Given the description of an element on the screen output the (x, y) to click on. 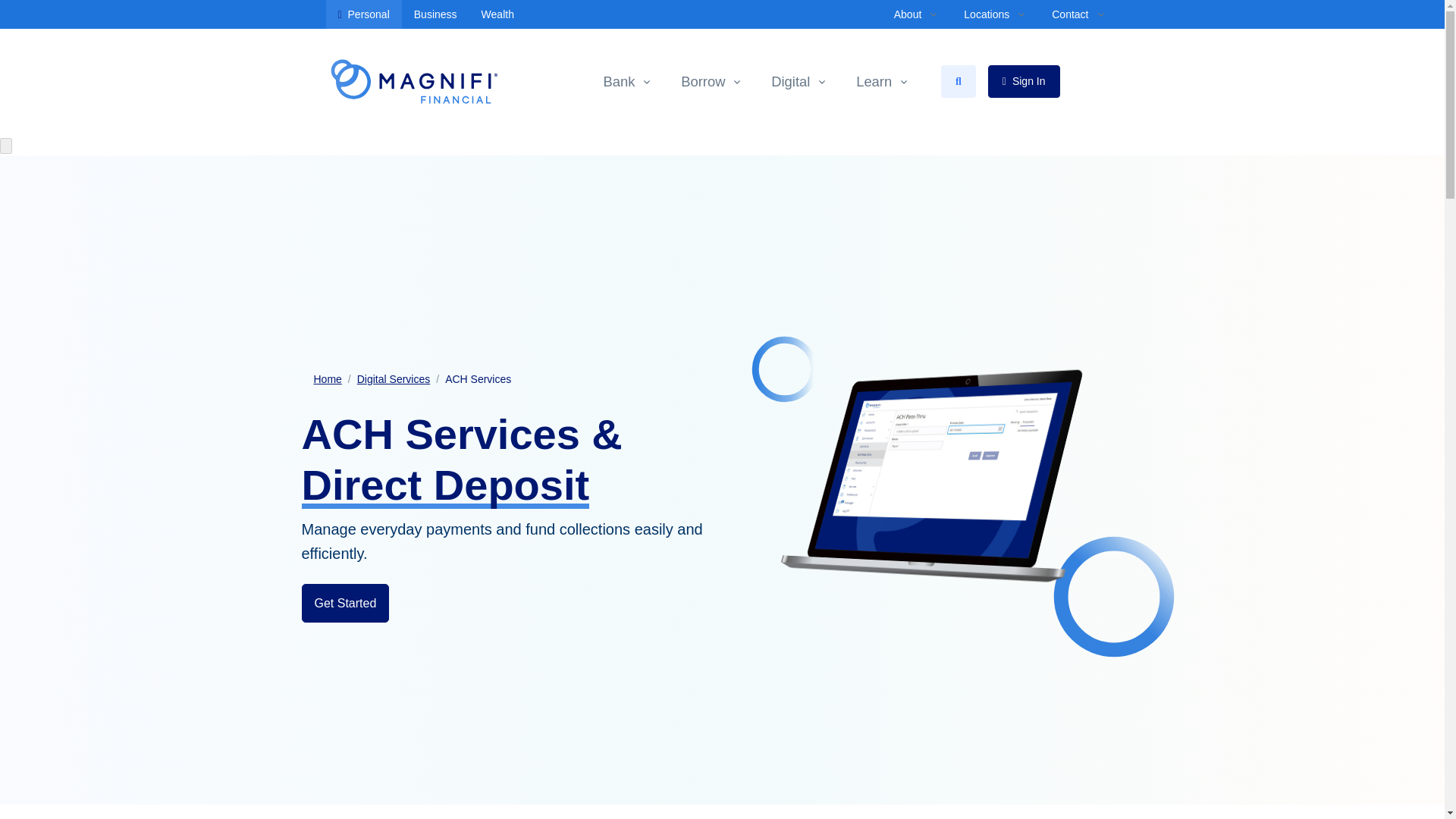
Business (434, 14)
Wealth (496, 14)
About (917, 13)
LiveChat chat widget (143, 795)
Personal (363, 14)
Locations (995, 13)
